Given the description of an element on the screen output the (x, y) to click on. 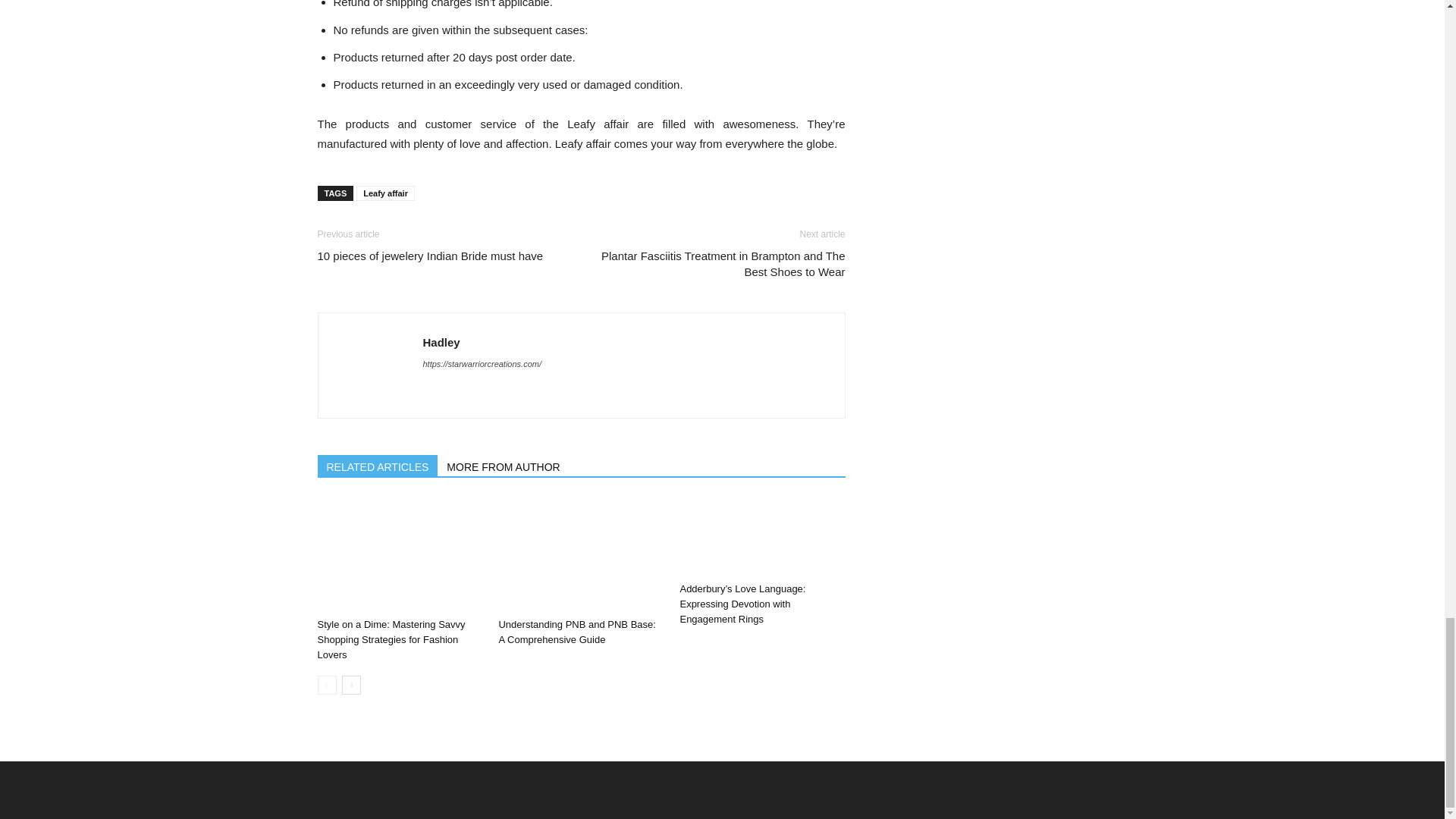
10 pieces of jewelery Indian Bride must have (430, 255)
Understanding PNB and PNB Base: A Comprehensive Guide (576, 632)
Understanding PNB and PNB Base: A Comprehensive Guide (580, 554)
MORE FROM AUTHOR (503, 465)
Hadley (441, 341)
Leafy affair (385, 192)
RELATED ARTICLES (377, 465)
